Given the description of an element on the screen output the (x, y) to click on. 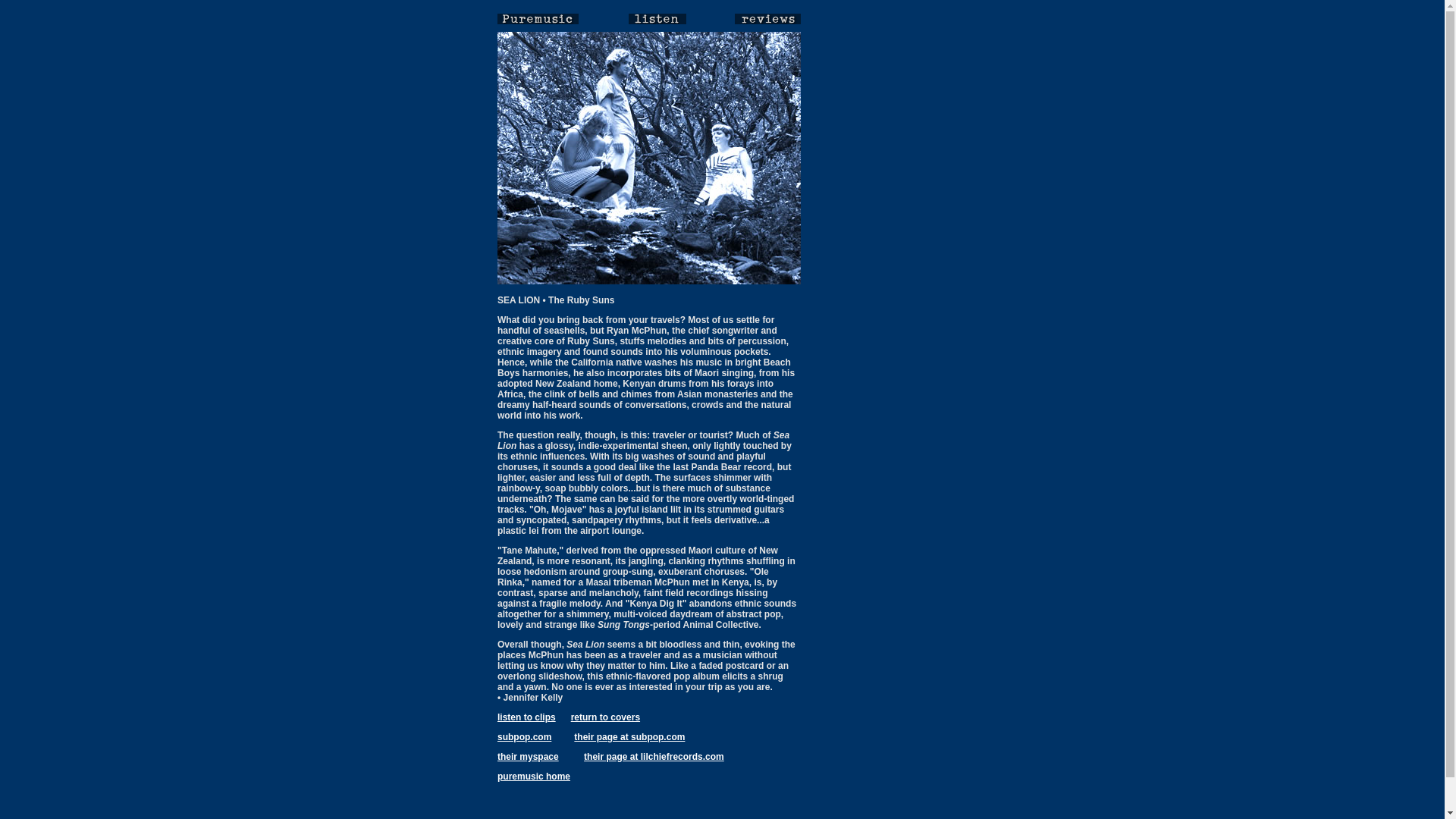
their page at subpop.com (628, 737)
subpop.com (524, 737)
return to covers (605, 716)
their page at lilchiefrecords.com (653, 756)
their myspace (528, 756)
puremusic home (533, 776)
listen to clips (526, 716)
